Given the description of an element on the screen output the (x, y) to click on. 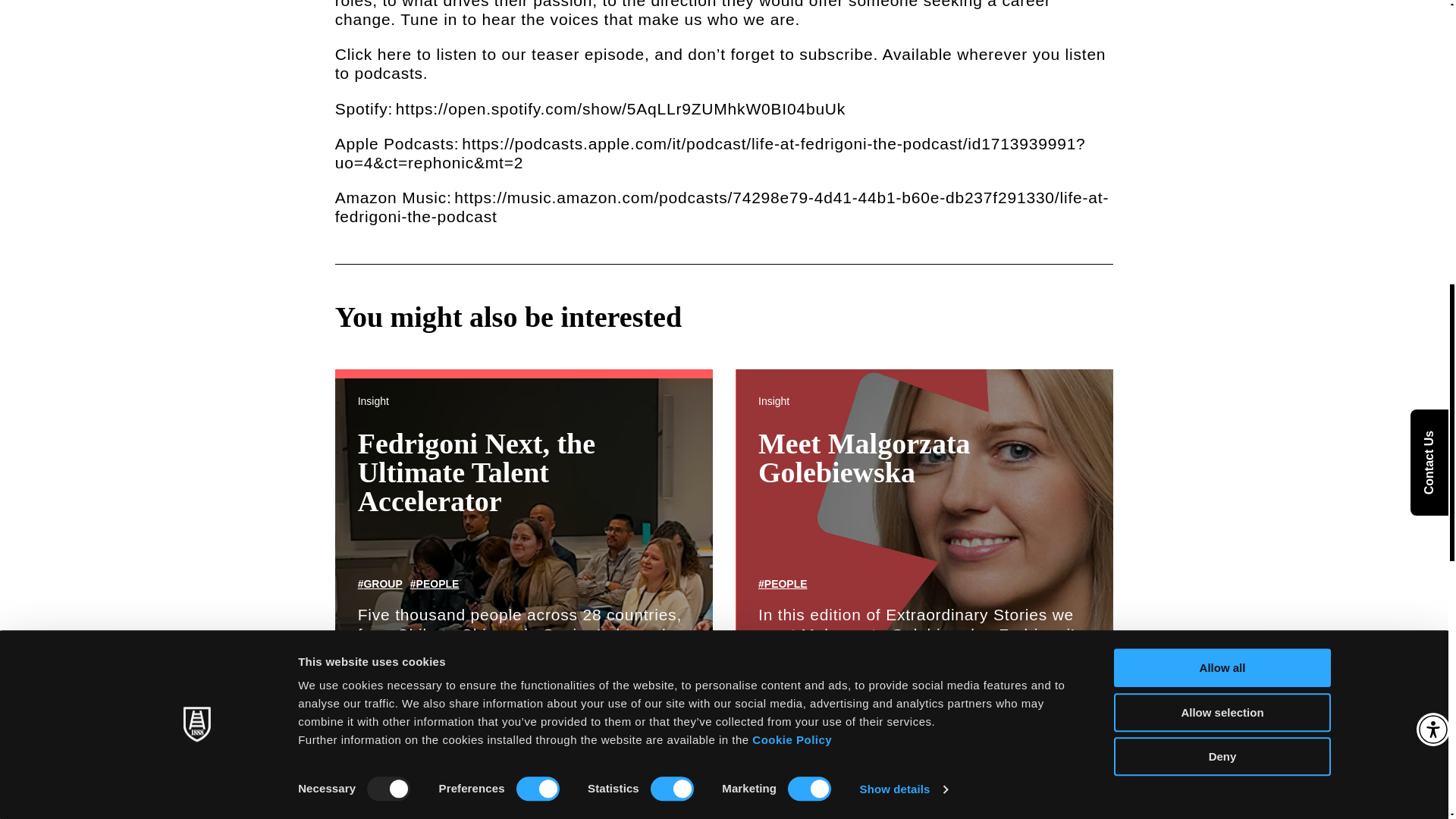
Fedrigoni Next, the Ultimate Talent Accelerator (476, 471)
Meet Malgorzata Golebiewska (864, 457)
